Given the description of an element on the screen output the (x, y) to click on. 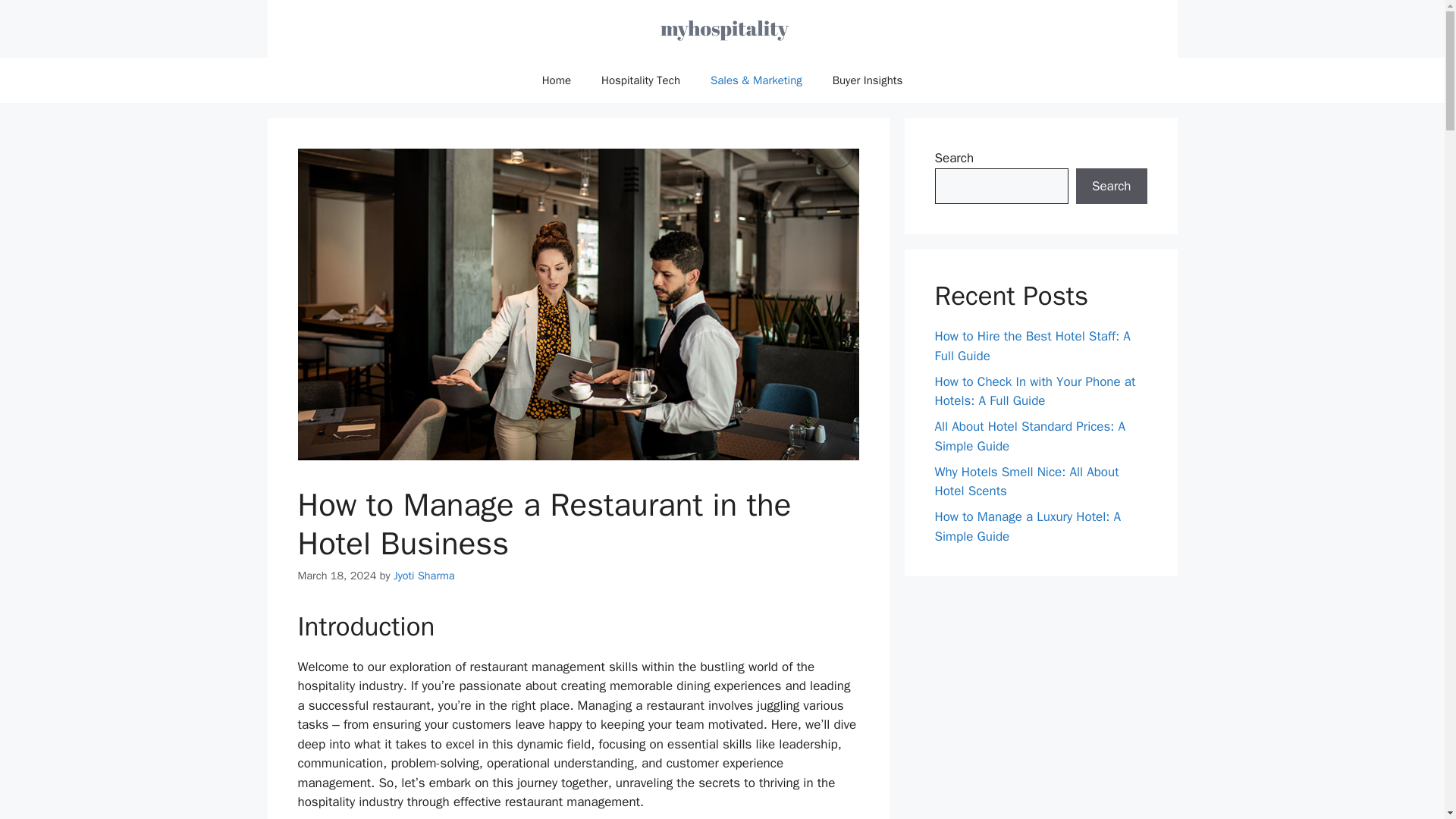
Jyoti Sharma (423, 575)
Why Hotels Smell Nice: All About Hotel Scents (1026, 481)
How to Manage a Luxury Hotel: A Simple Guide (1027, 526)
Buyer Insights (867, 80)
How to Hire the Best Hotel Staff: A Full Guide (1031, 345)
How to Check In with Your Phone at Hotels: A Full Guide (1034, 391)
View all posts by Jyoti Sharma (423, 575)
Home (556, 80)
All About Hotel Standard Prices: A Simple Guide (1029, 436)
Hospitality Tech (640, 80)
Search (1111, 186)
